Given the description of an element on the screen output the (x, y) to click on. 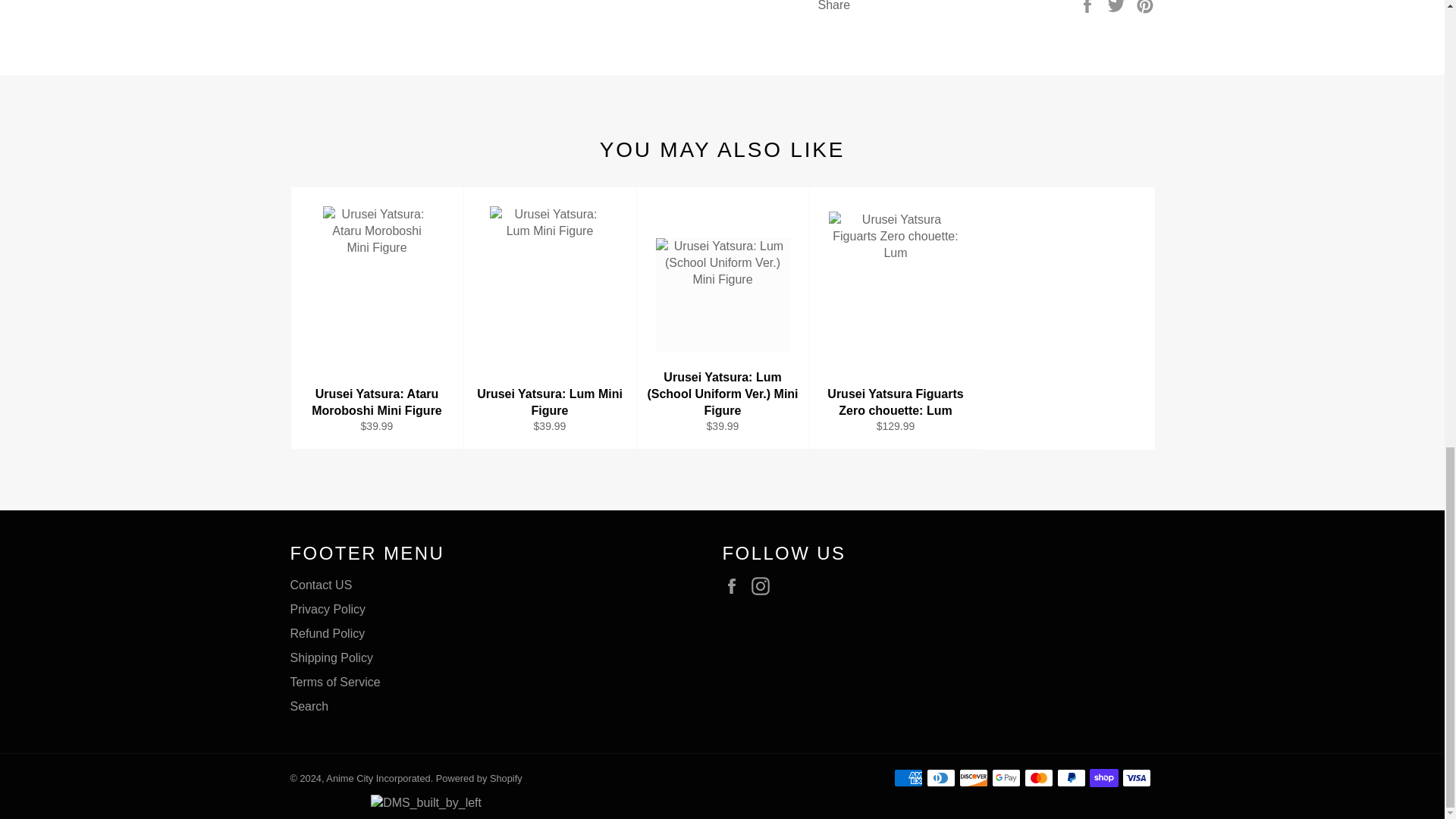
Anime City Incorporated on Facebook (735, 586)
Tweet on Twitter (1117, 5)
Pin on Pinterest (1144, 5)
Share on Facebook (1088, 5)
Anime City Incorporated on Instagram (764, 586)
